Given the description of an element on the screen output the (x, y) to click on. 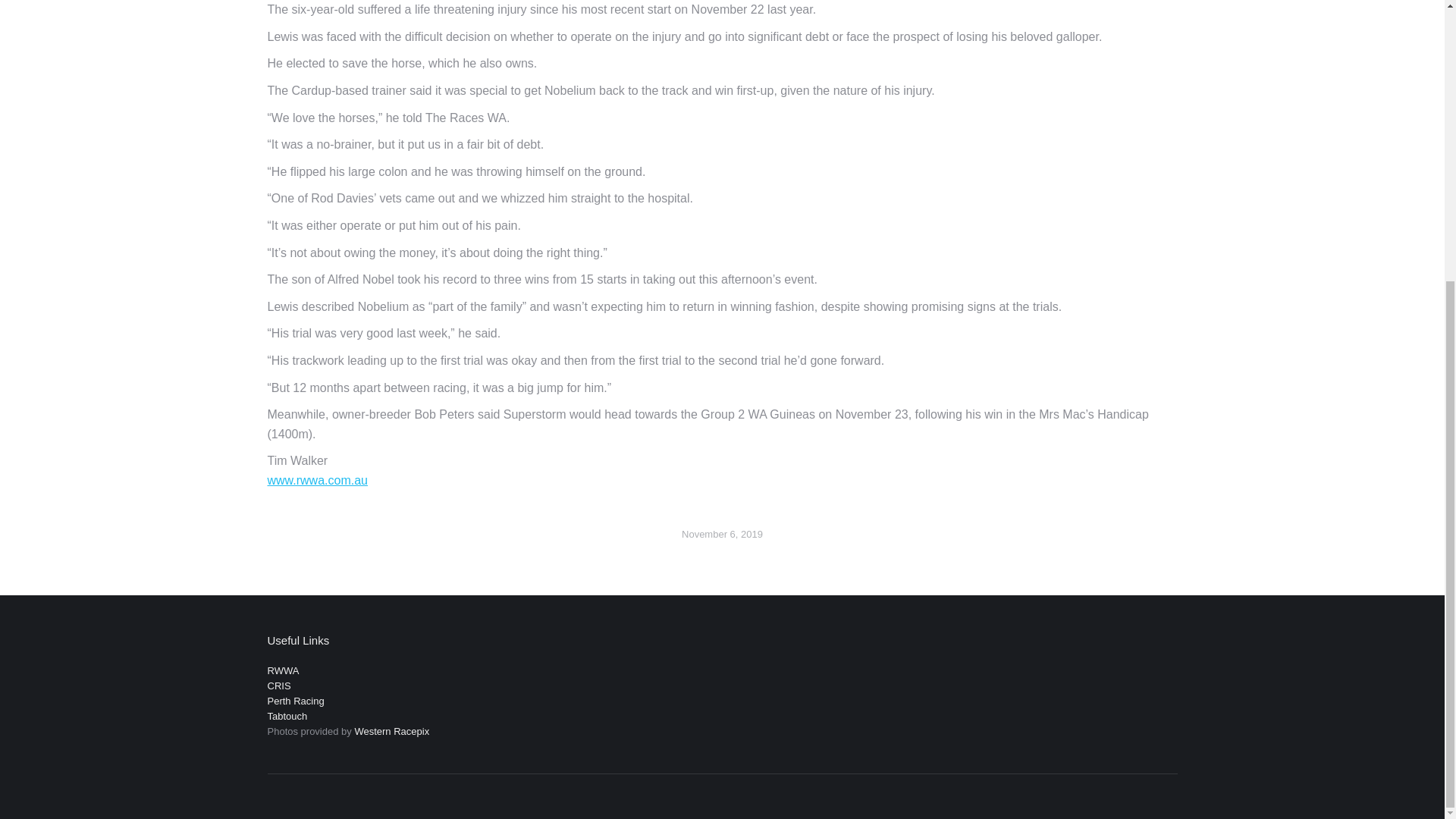
Western Racepix (391, 731)
Perth Racing (294, 700)
RWWA (282, 670)
November 6, 2019 (721, 534)
Tabtouch (286, 715)
4:26 pm (721, 534)
CRIS (277, 685)
www.rwwa.com.au (316, 480)
